Given the description of an element on the screen output the (x, y) to click on. 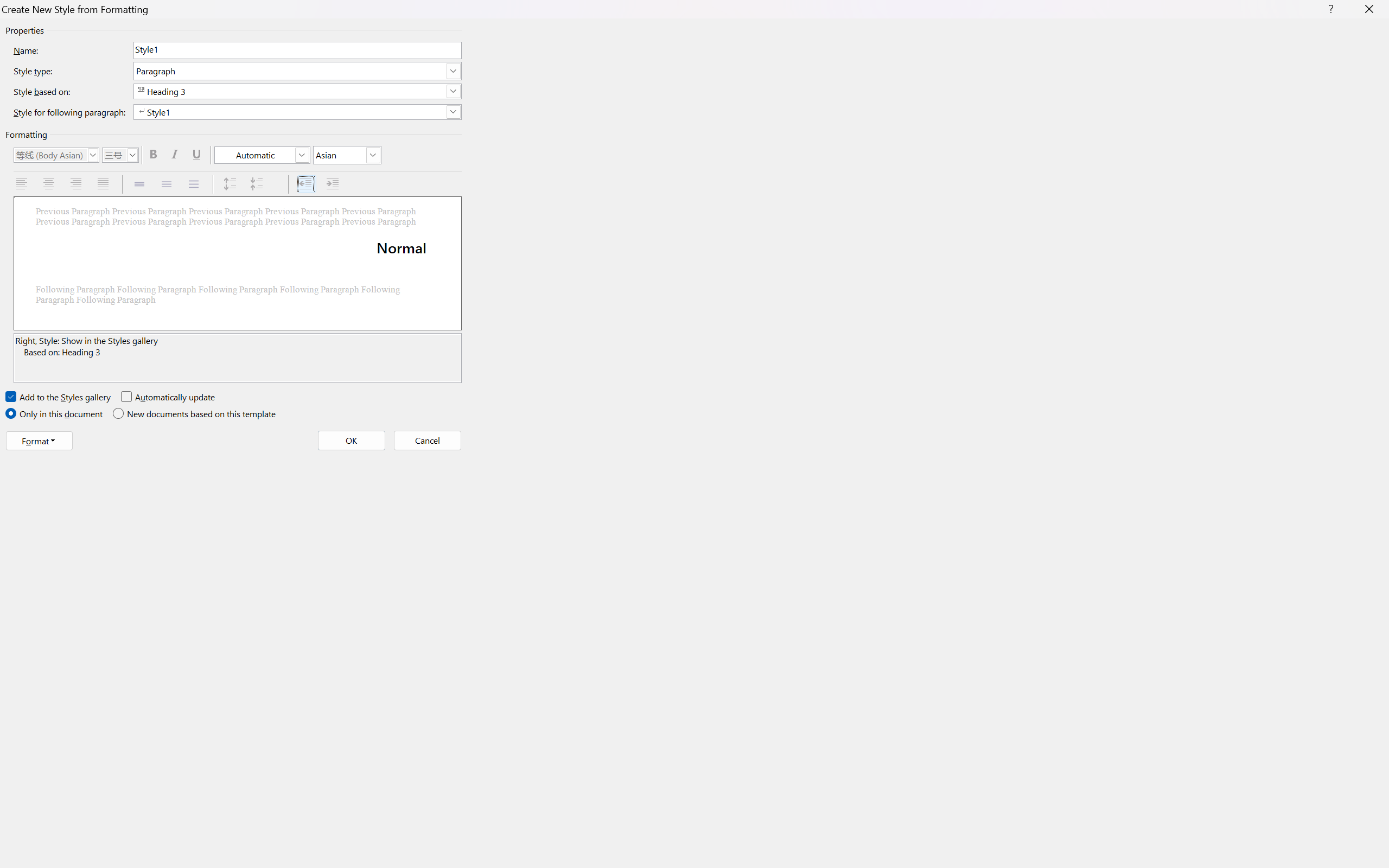
Style type: (297, 70)
Increase Indent (334, 183)
New documents based on this template (194, 413)
OK (352, 440)
